Given the description of an element on the screen output the (x, y) to click on. 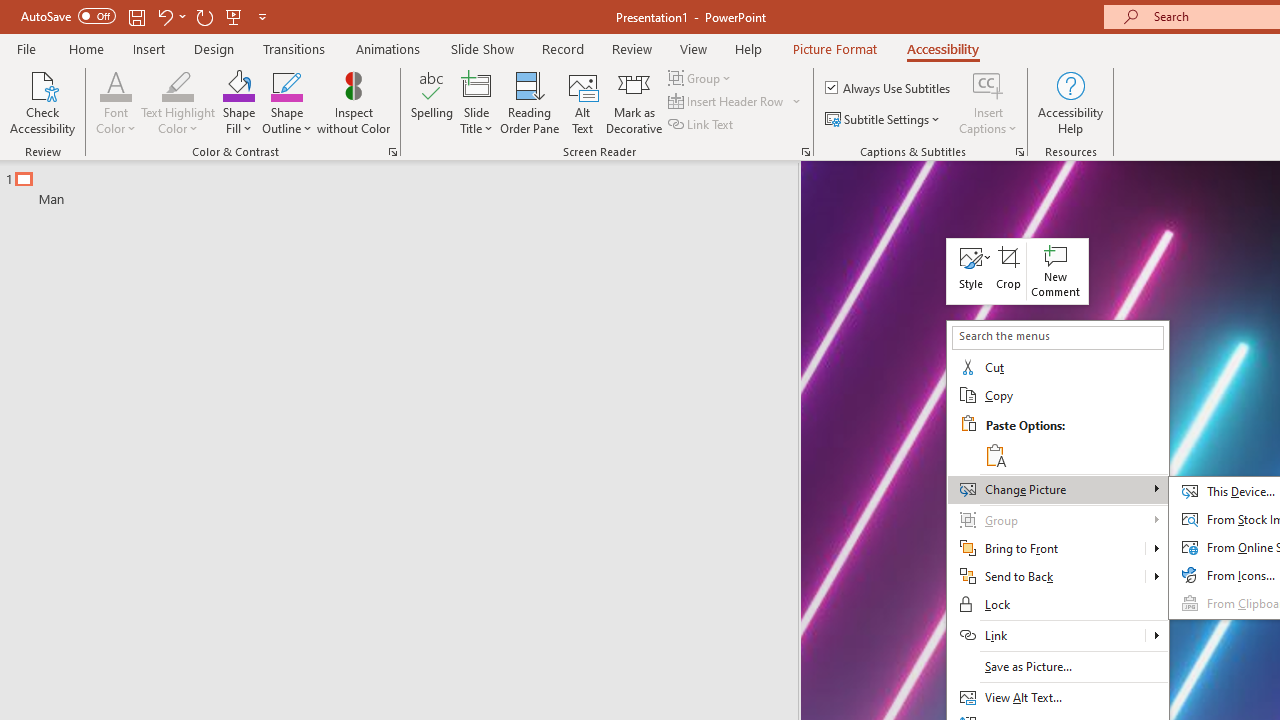
View Alt Text... (1057, 698)
Group (1057, 520)
Always Use Subtitles (889, 87)
Link Text (702, 124)
Reading Order Pane (529, 102)
